Given the description of an element on the screen output the (x, y) to click on. 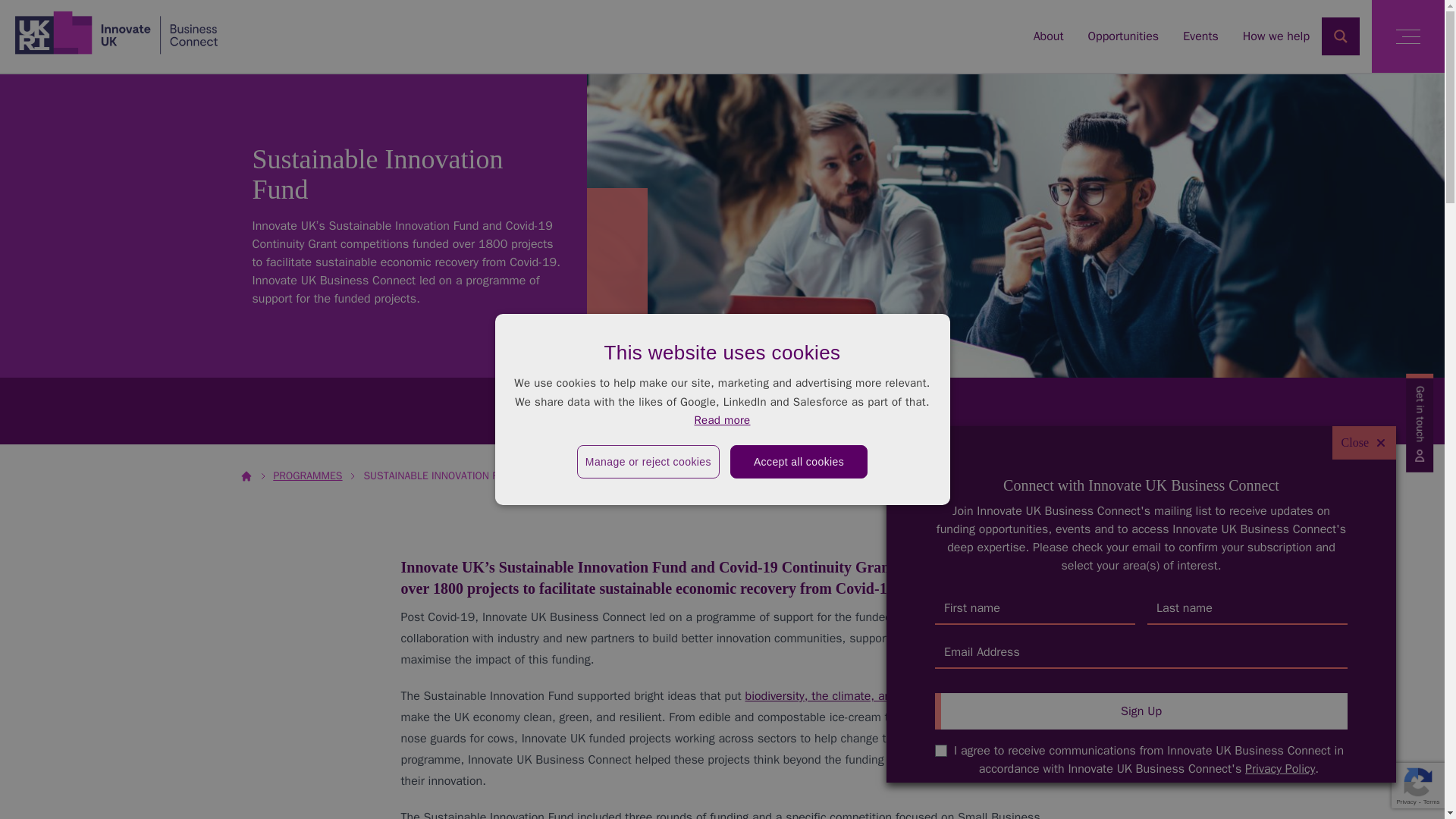
on (940, 750)
About (1048, 36)
How we help (1275, 36)
Opportunities (1122, 36)
Home (116, 32)
Sign Up (1141, 710)
Events (1200, 36)
